Given the description of an element on the screen output the (x, y) to click on. 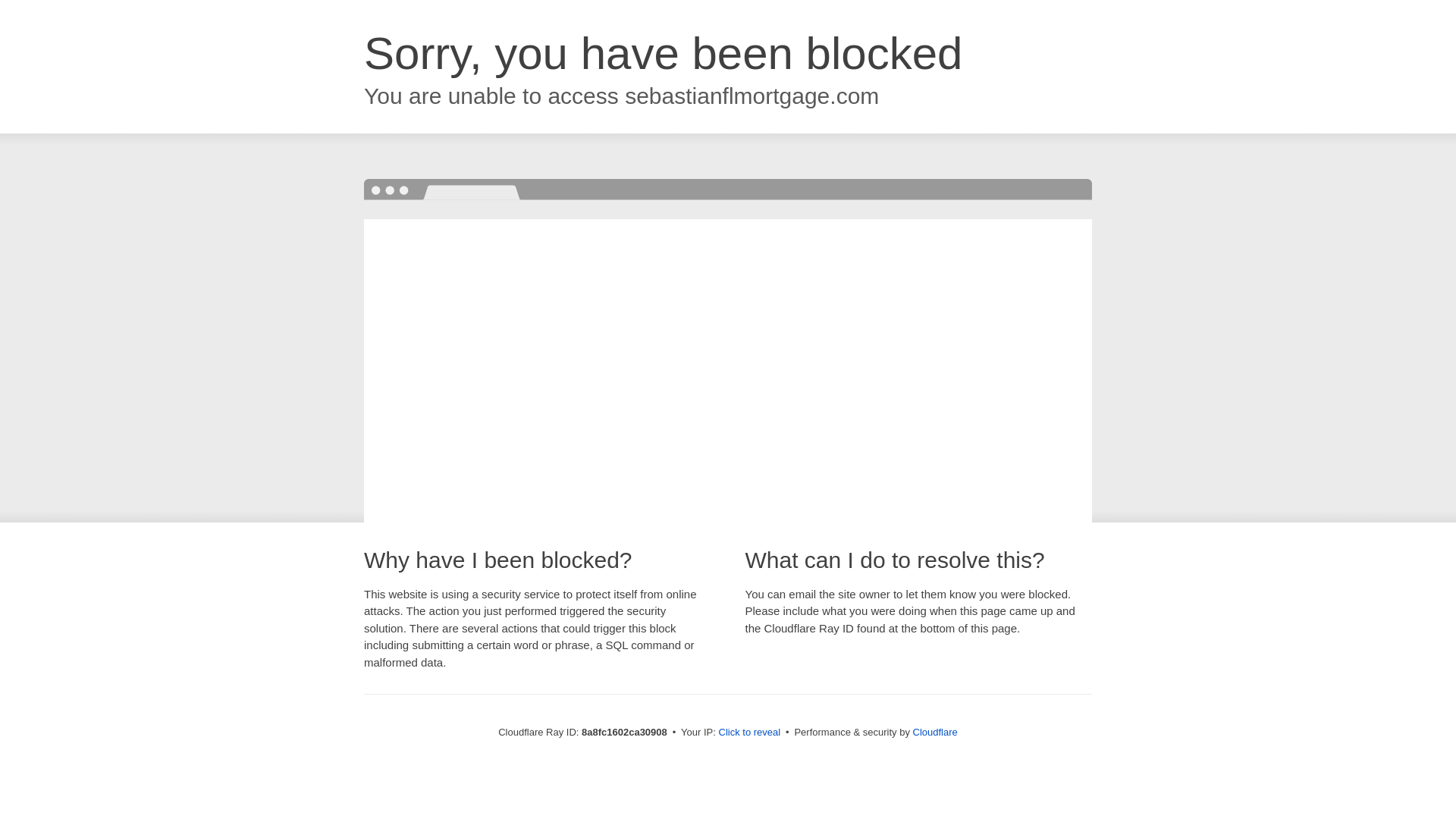
Cloudflare (935, 731)
Click to reveal (749, 732)
